Given the description of an element on the screen output the (x, y) to click on. 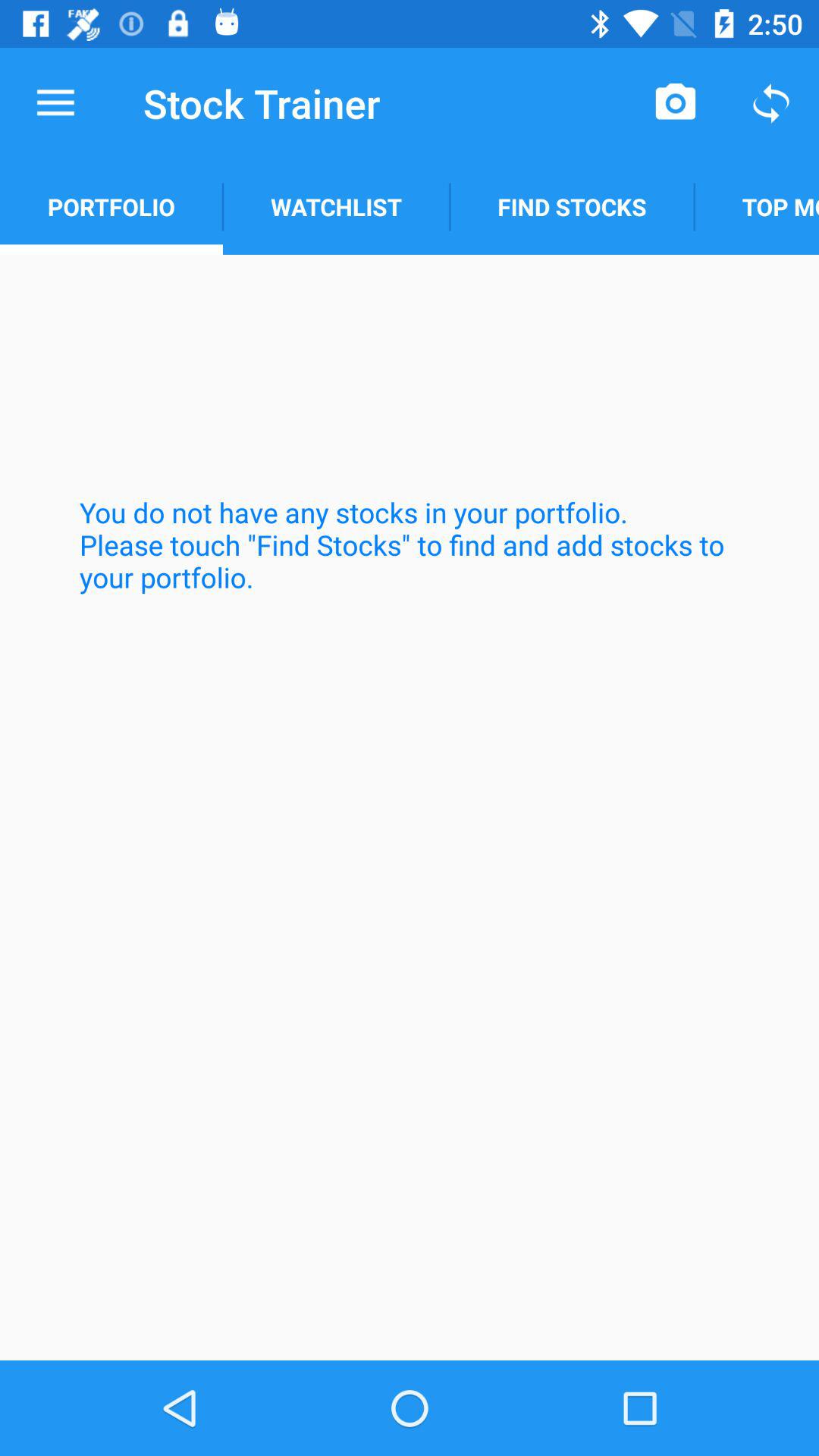
turn off item to the right of the watchlist (675, 103)
